Given the description of an element on the screen output the (x, y) to click on. 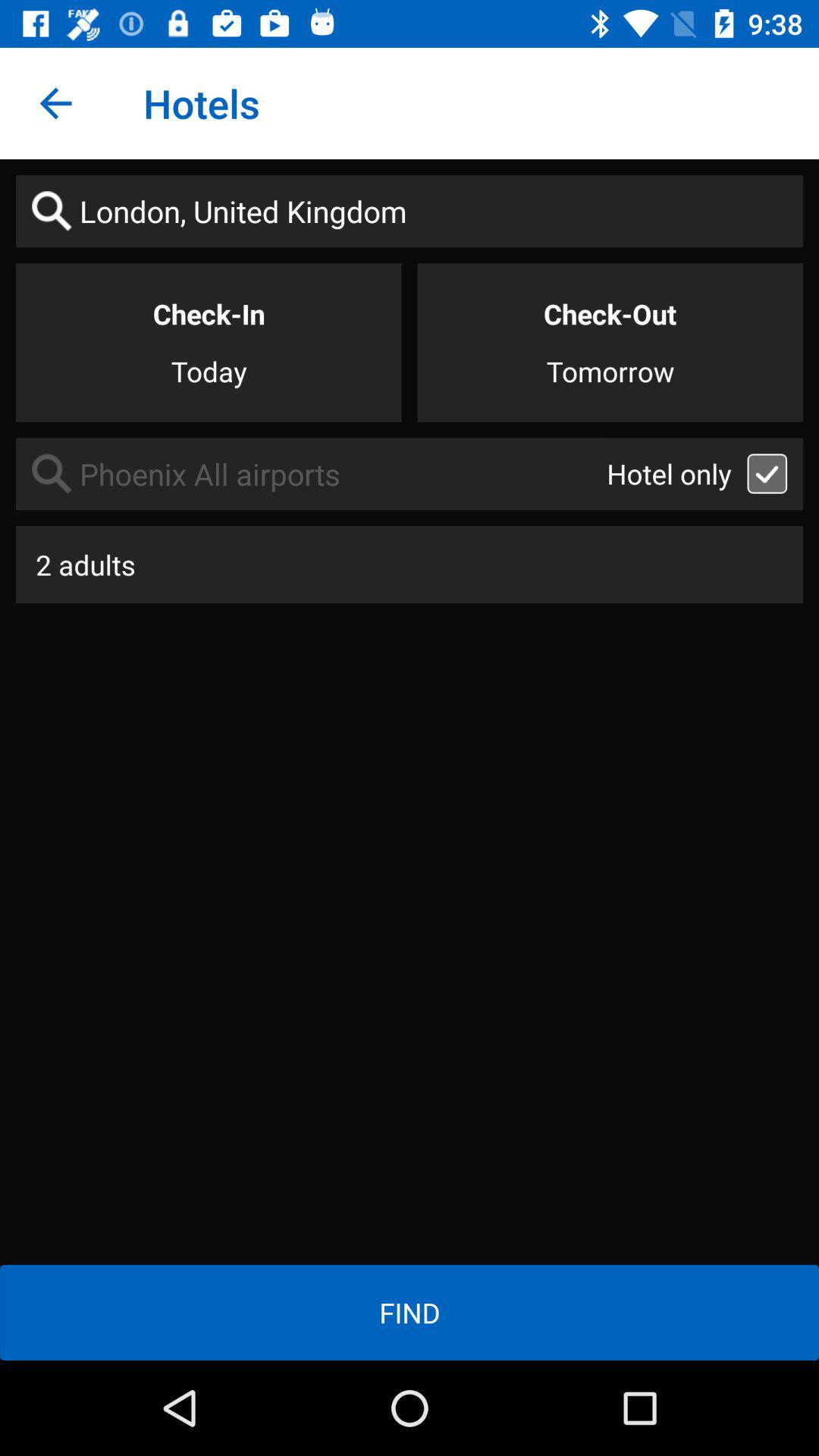
click phoenix all airports (310, 473)
